Given the description of an element on the screen output the (x, y) to click on. 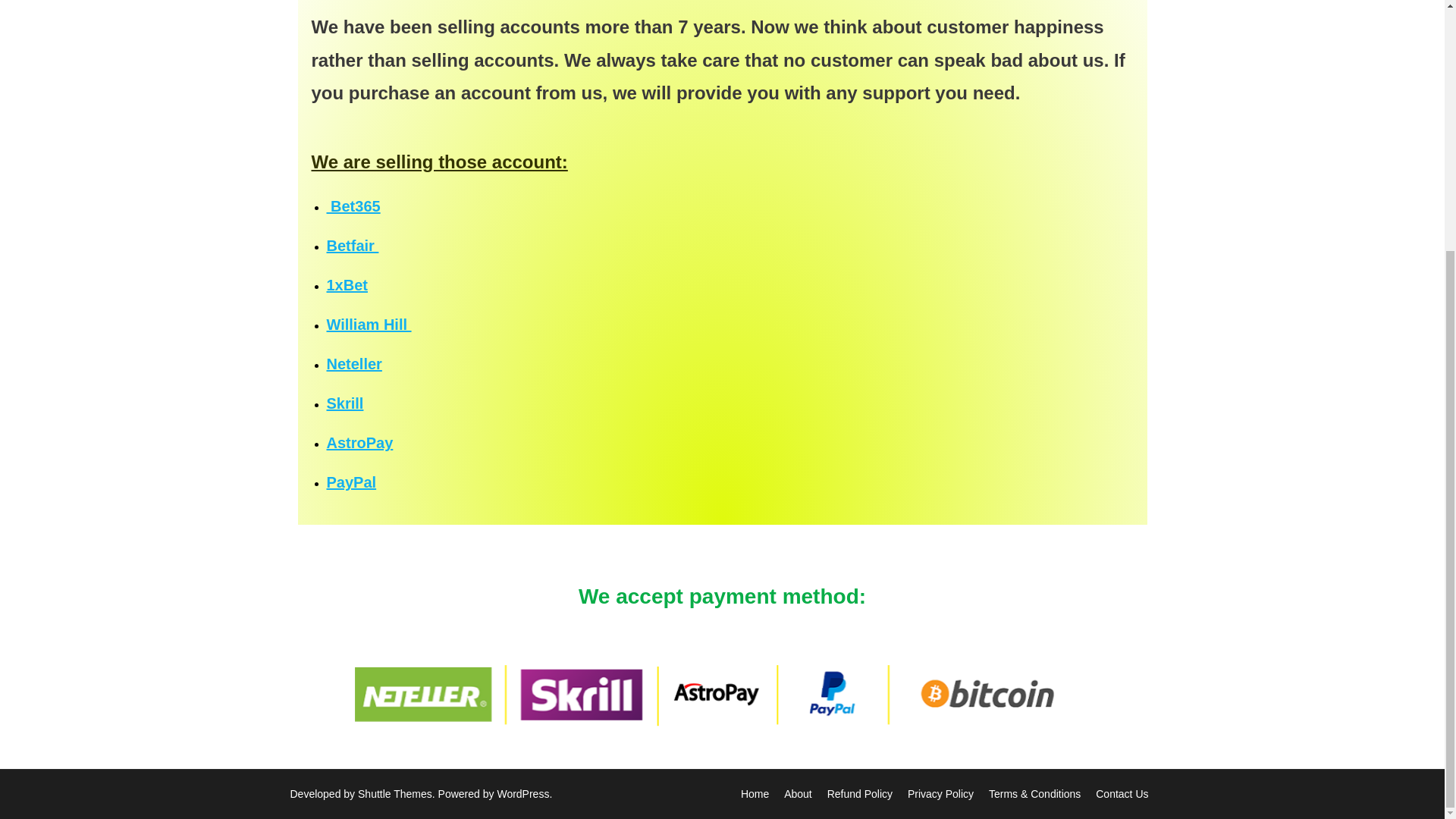
Skrill (344, 402)
Betfair  (352, 245)
AstroPay (359, 442)
1xBet (346, 284)
WordPress (522, 793)
Refund Policy (859, 793)
Shuttle Themes (395, 793)
William Hill  (368, 324)
About (797, 793)
Neteller (353, 363)
Home (754, 793)
Privacy Policy (940, 793)
 Bet365 (353, 206)
PayPal (350, 482)
